Given the description of an element on the screen output the (x, y) to click on. 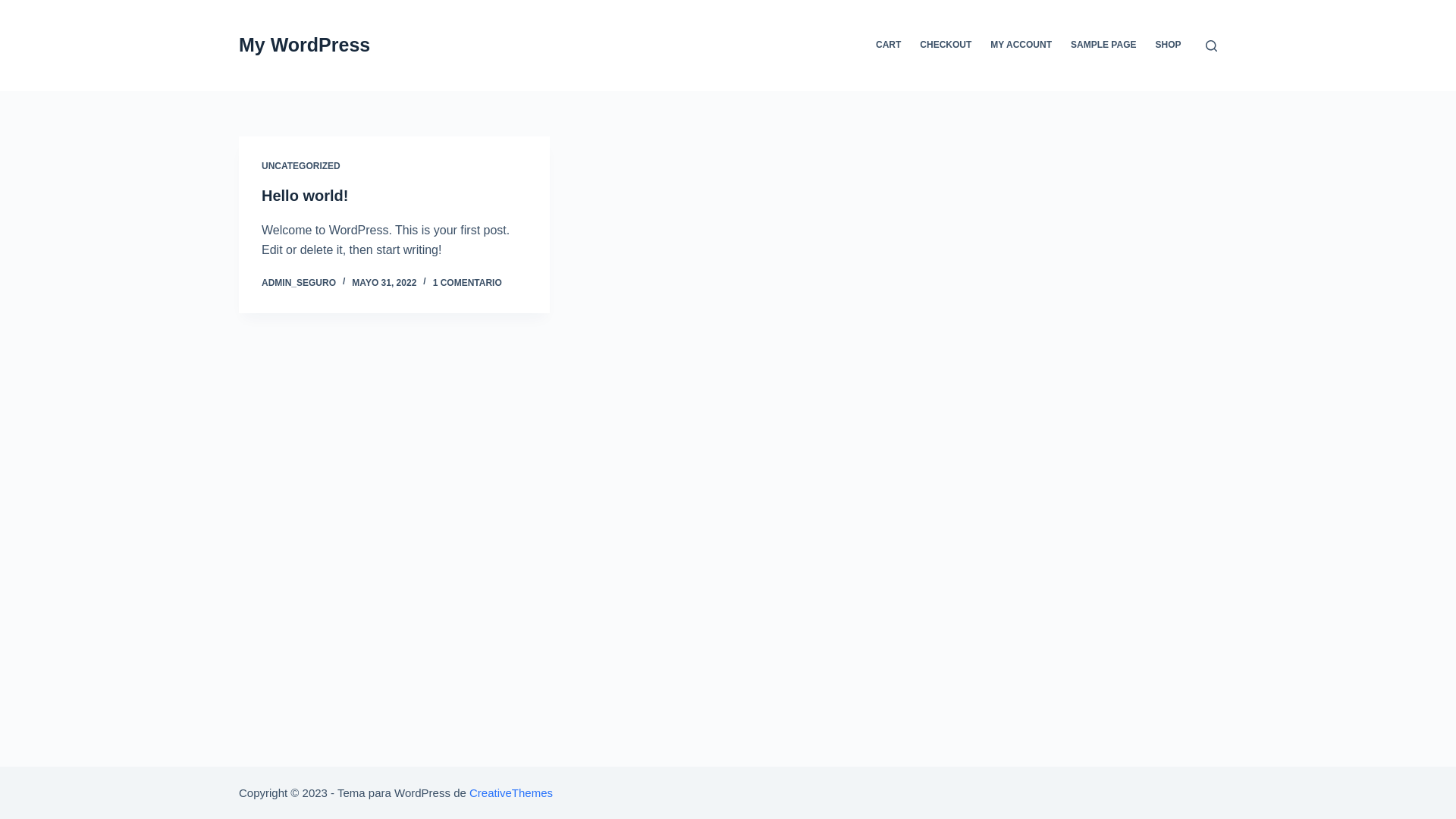
CHECKOUT Element type: text (945, 45)
UNCATEGORIZED Element type: text (300, 165)
1 COMENTARIO Element type: text (467, 282)
ADMIN_SEGURO Element type: text (298, 282)
MY ACCOUNT Element type: text (1021, 45)
SHOP Element type: text (1167, 45)
SAMPLE PAGE Element type: text (1103, 45)
CART Element type: text (888, 45)
CreativeThemes Element type: text (510, 791)
Hello world! Element type: text (304, 195)
My WordPress Element type: text (304, 44)
Saltar al contenido Element type: text (15, 7)
